Given the description of an element on the screen output the (x, y) to click on. 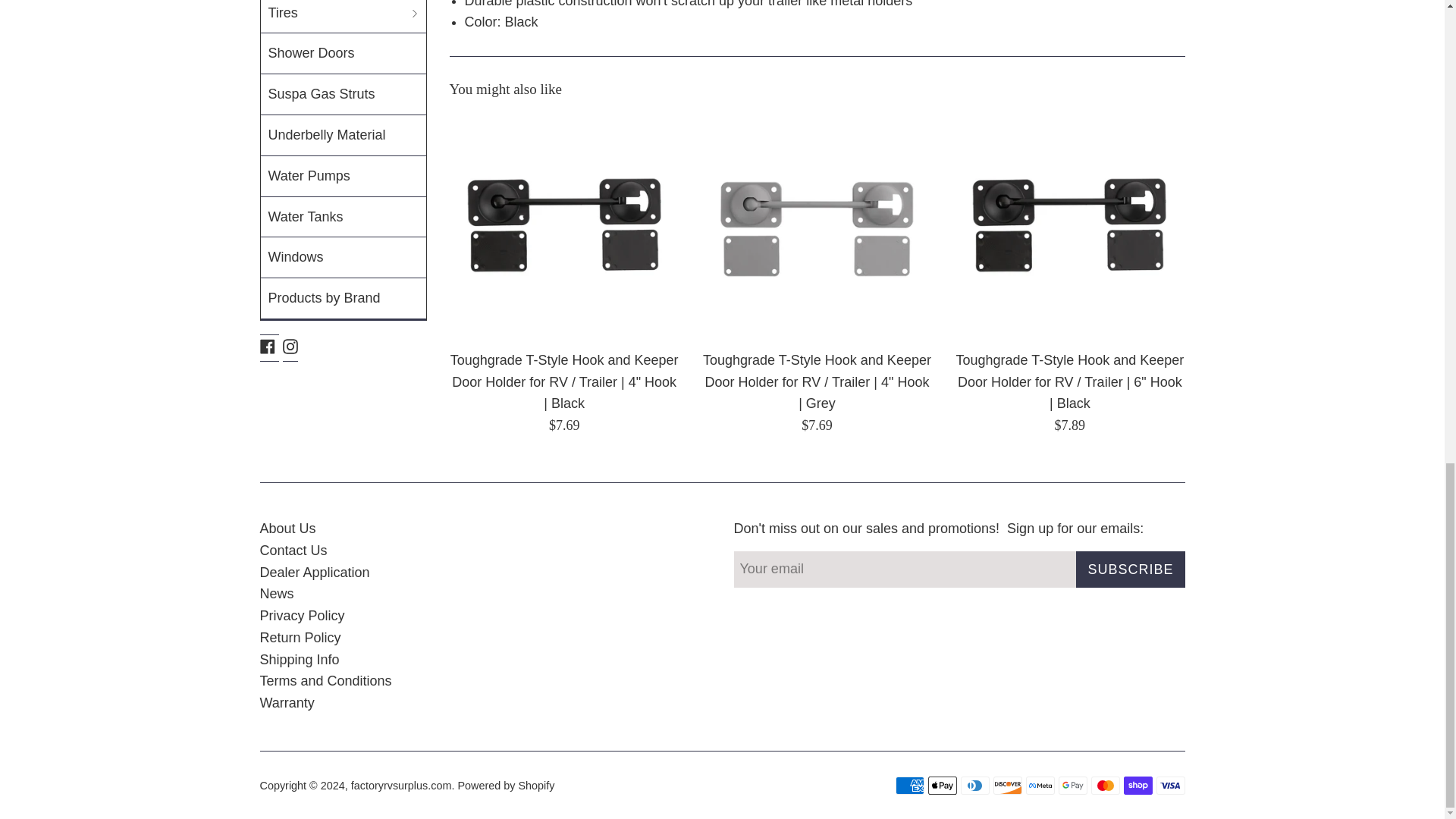
Visa (1170, 785)
Google Pay (1072, 785)
factoryrvsurplus.com on Facebook (267, 345)
Discover (1007, 785)
Mastercard (1104, 785)
Shop Pay (1138, 785)
Diners Club (973, 785)
American Express (909, 785)
factoryrvsurplus.com on Instagram (290, 345)
Meta Pay (1039, 785)
Apple Pay (942, 785)
